Given the description of an element on the screen output the (x, y) to click on. 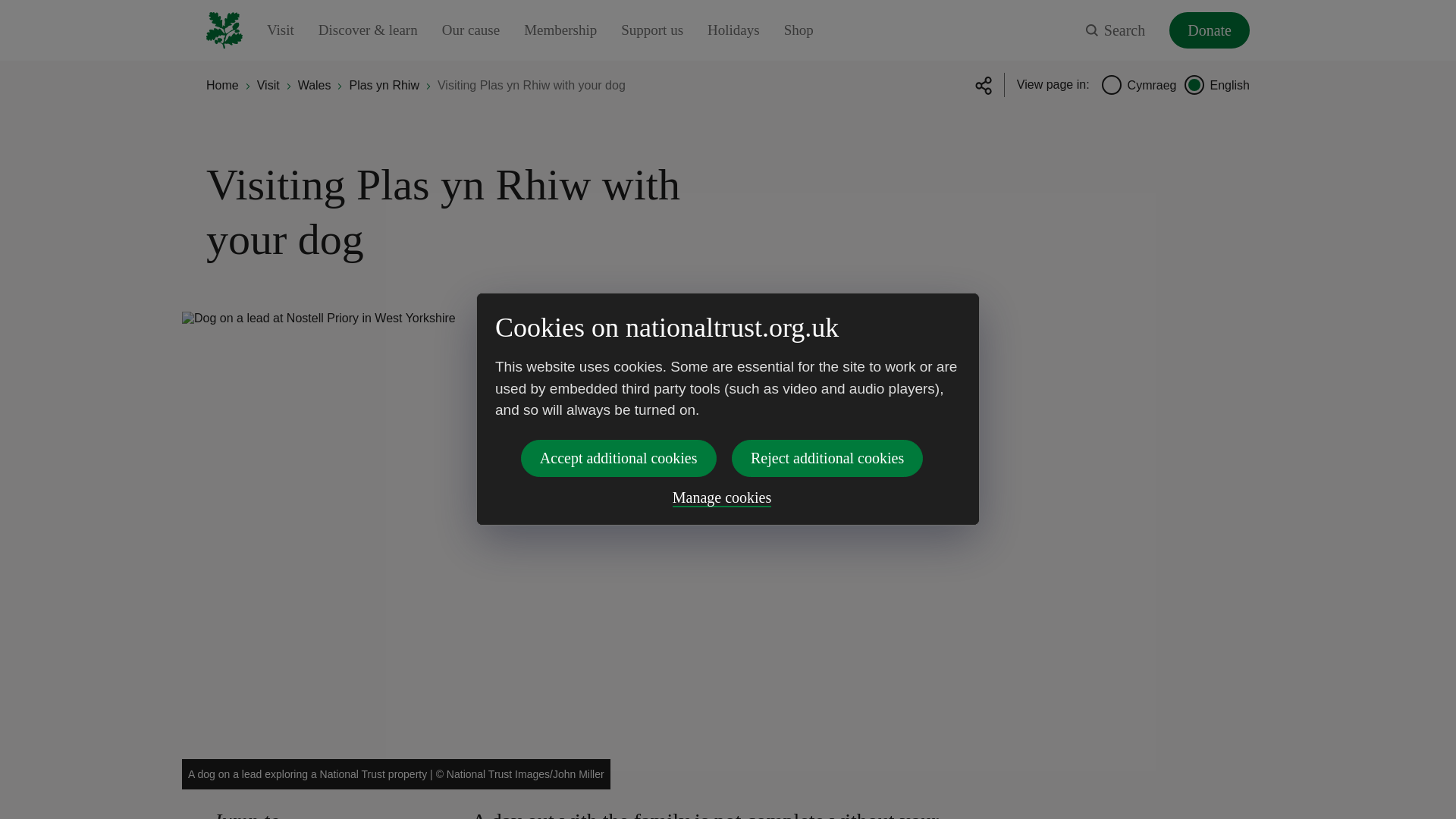
Membership (560, 30)
Visit (280, 30)
Shop (798, 30)
Support us (651, 30)
Our cause (471, 30)
Holidays (733, 30)
